Given the description of an element on the screen output the (x, y) to click on. 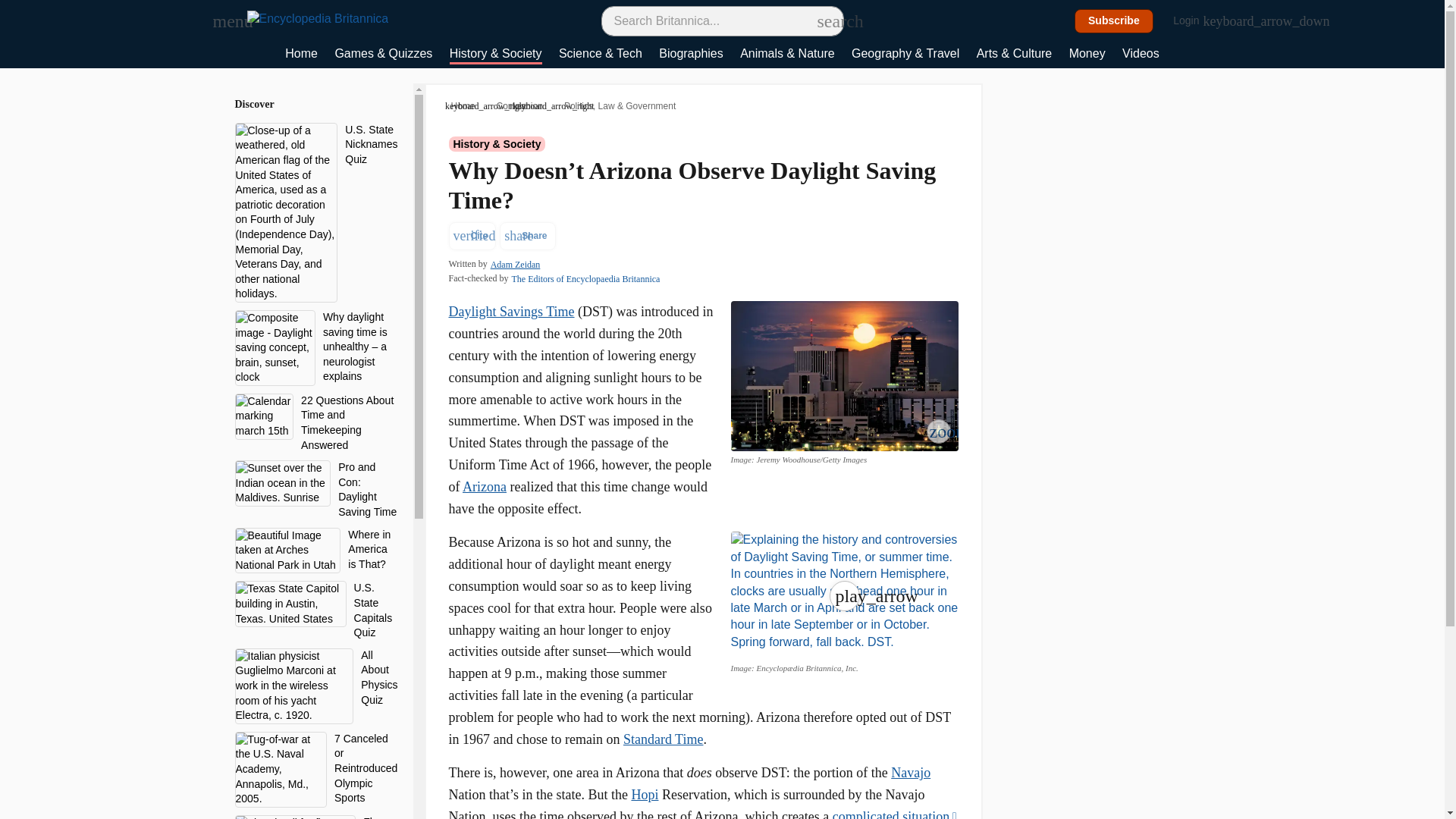
Click here to search (825, 20)
Login (1194, 20)
Subscribe (1114, 21)
